Given the description of an element on the screen output the (x, y) to click on. 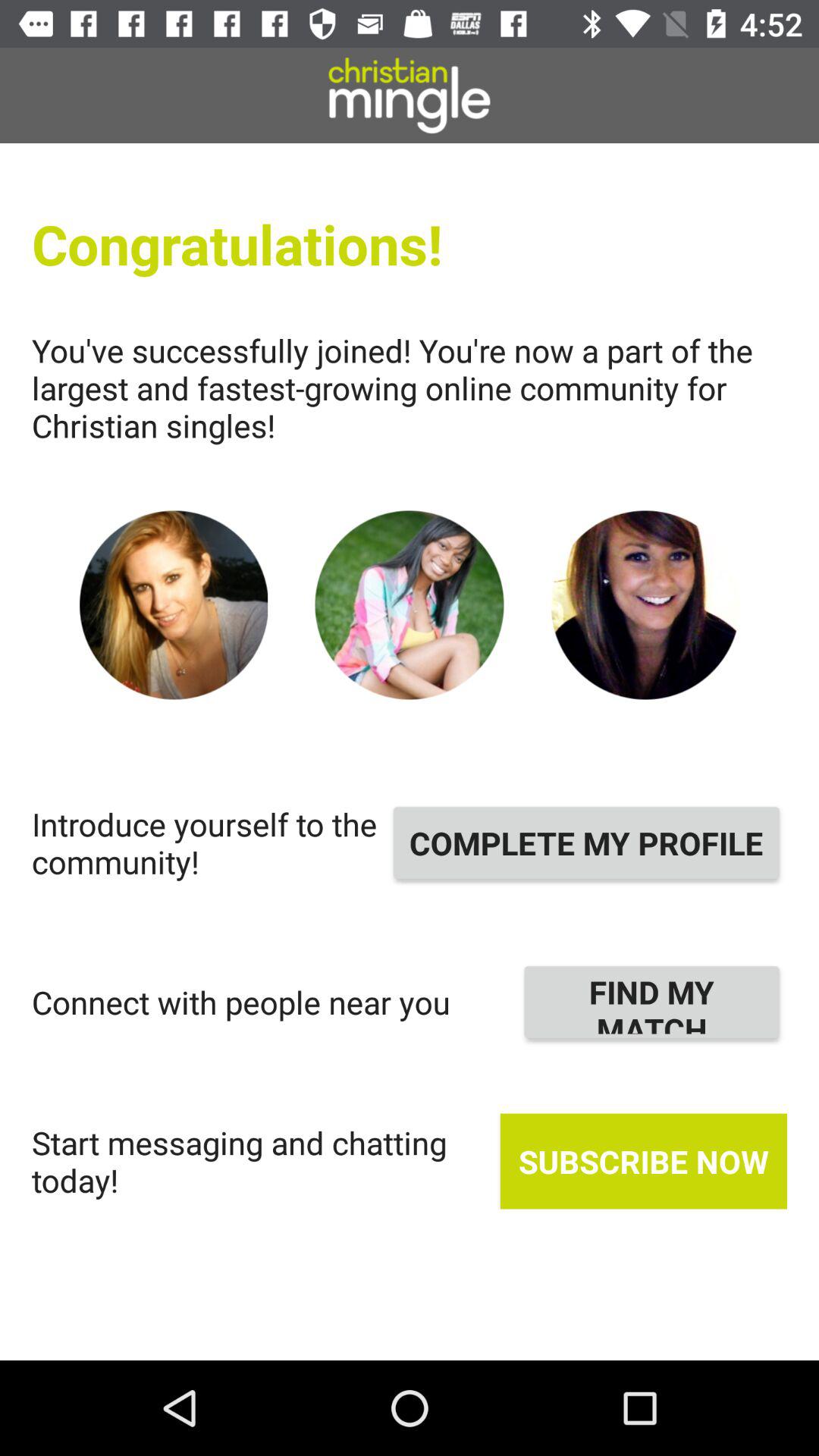
turn off the icon to the right of introduce yourself to icon (586, 842)
